Given the description of an element on the screen output the (x, y) to click on. 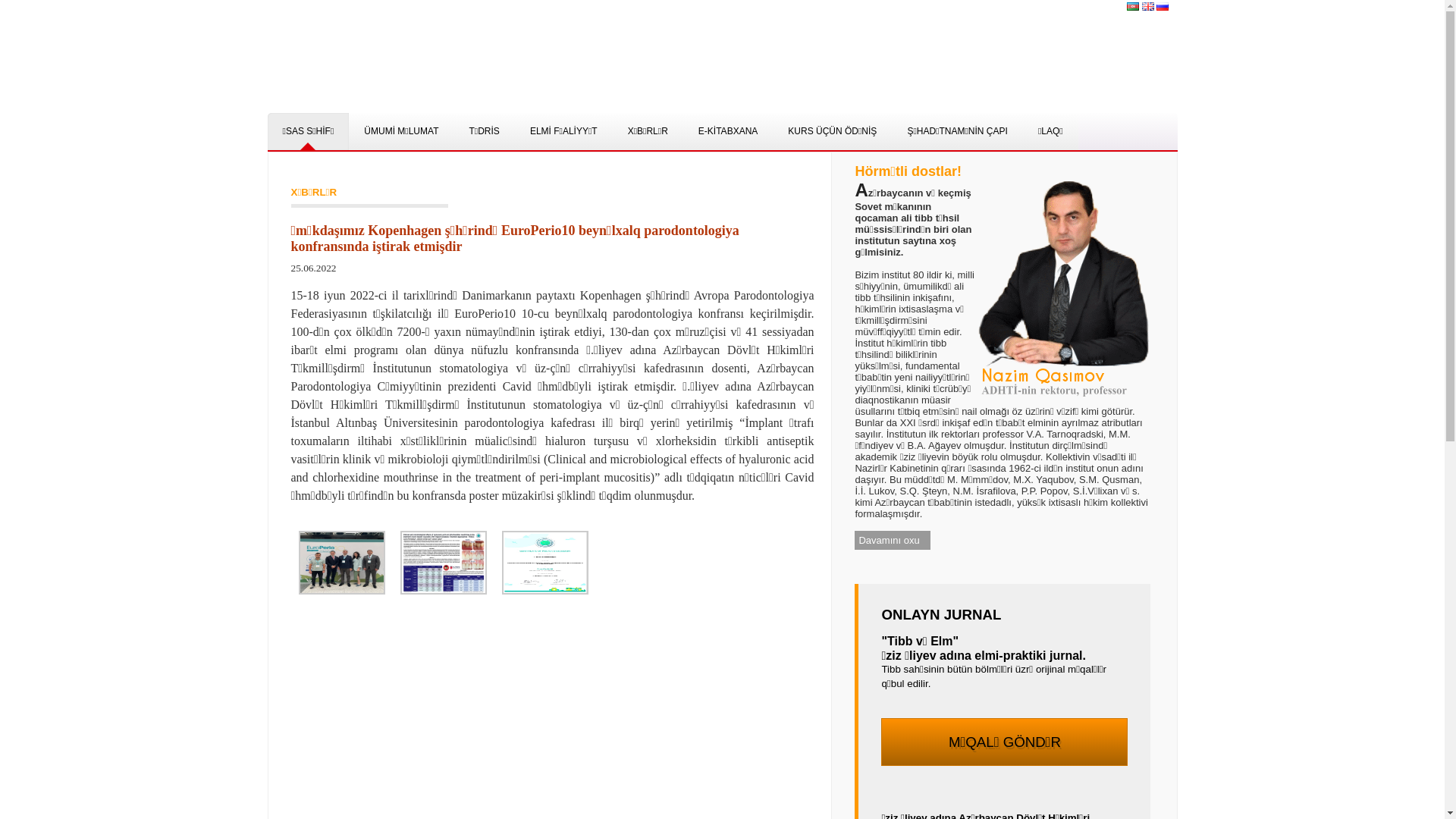
English version Element type: hover (1148, 5)
